Given the description of an element on the screen output the (x, y) to click on. 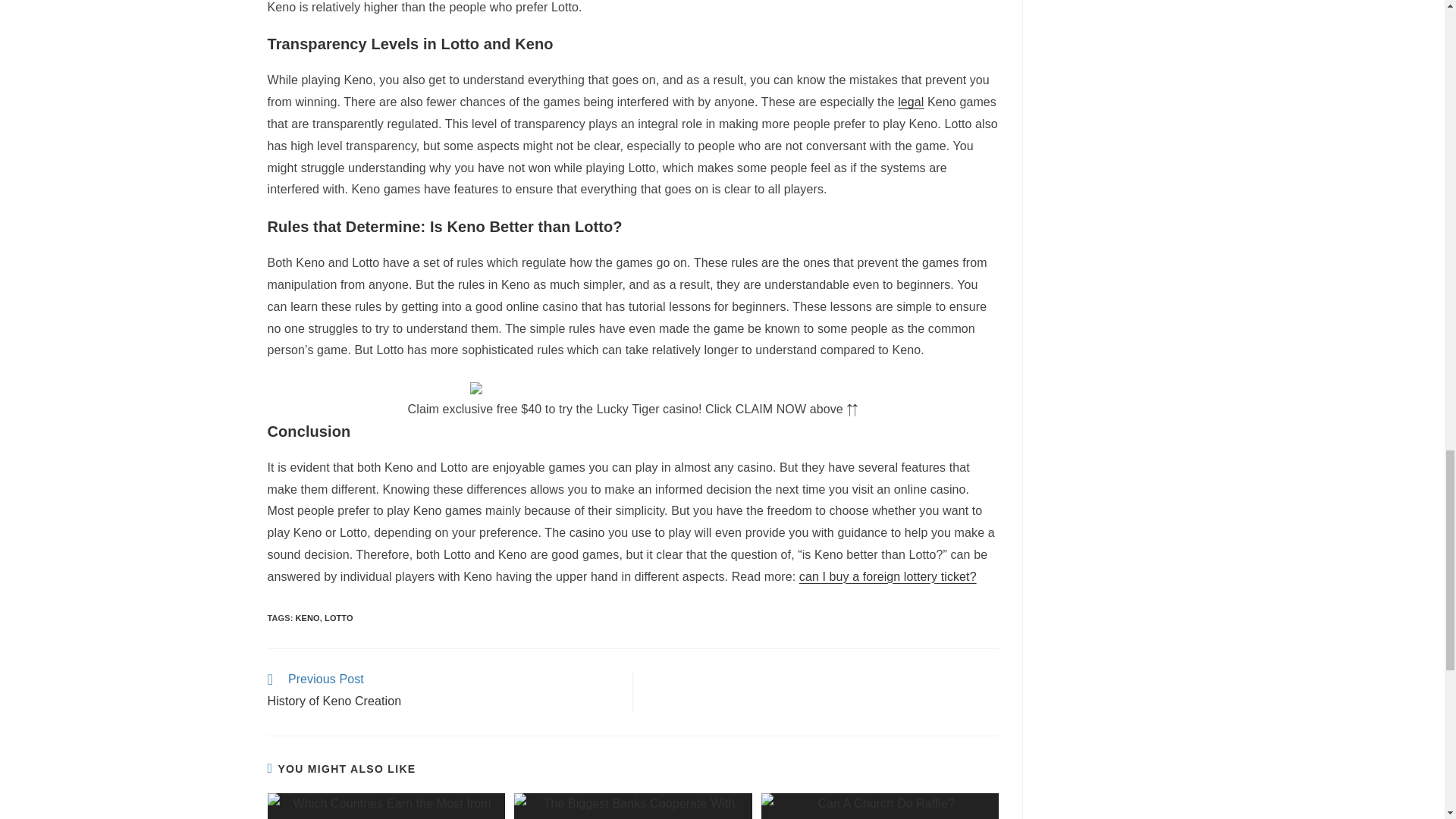
legal (910, 101)
KENO (307, 617)
LOTTO (338, 617)
can I buy a foreign lottery ticket? (887, 576)
